Given the description of an element on the screen output the (x, y) to click on. 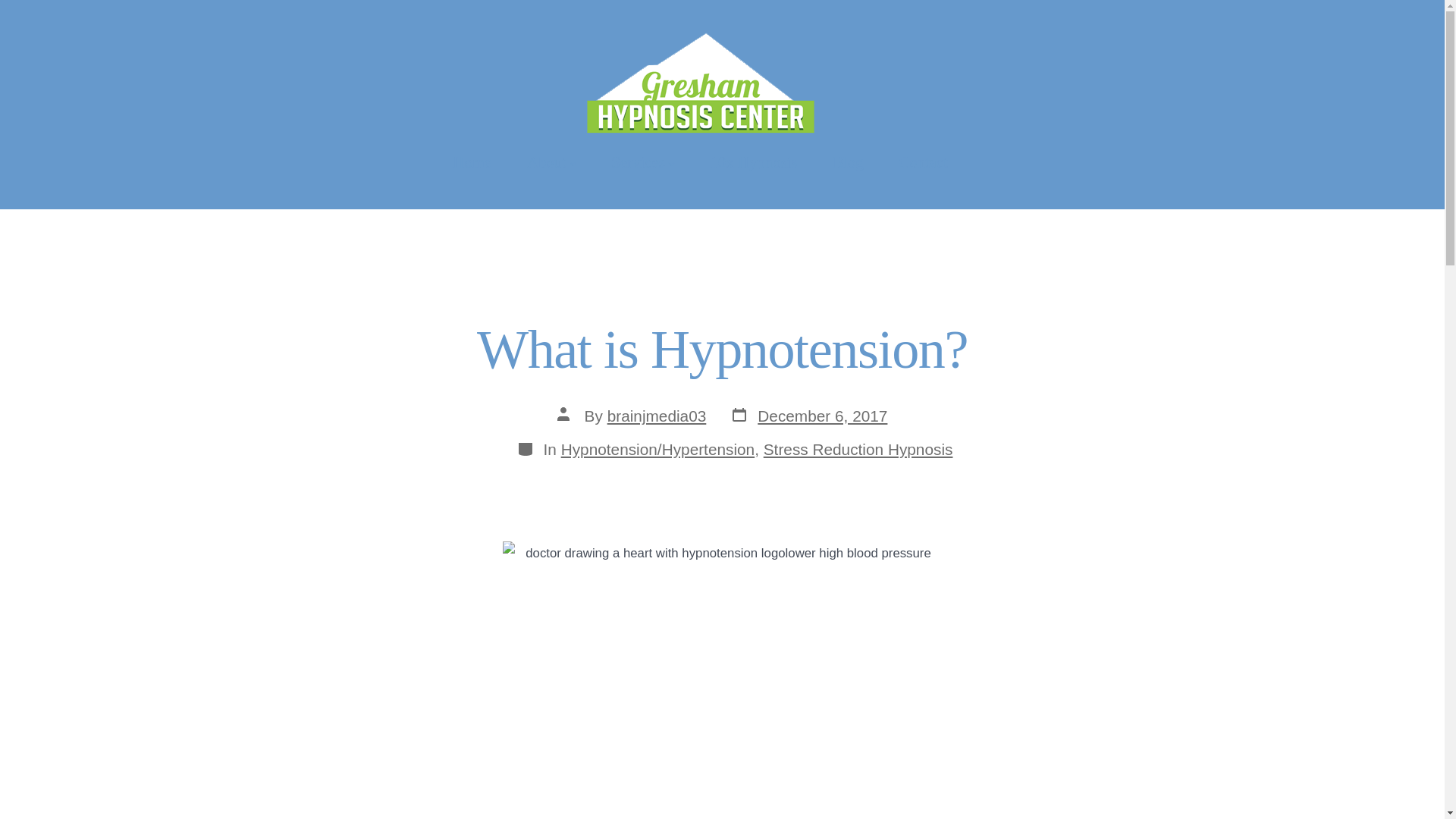
Services (642, 161)
Home (472, 161)
brainjmedia03 (656, 416)
Stress Reduction Hypnosis (857, 448)
10x Hypnosis (753, 161)
Blog (808, 415)
About (847, 161)
Contact (551, 161)
